Given the description of an element on the screen output the (x, y) to click on. 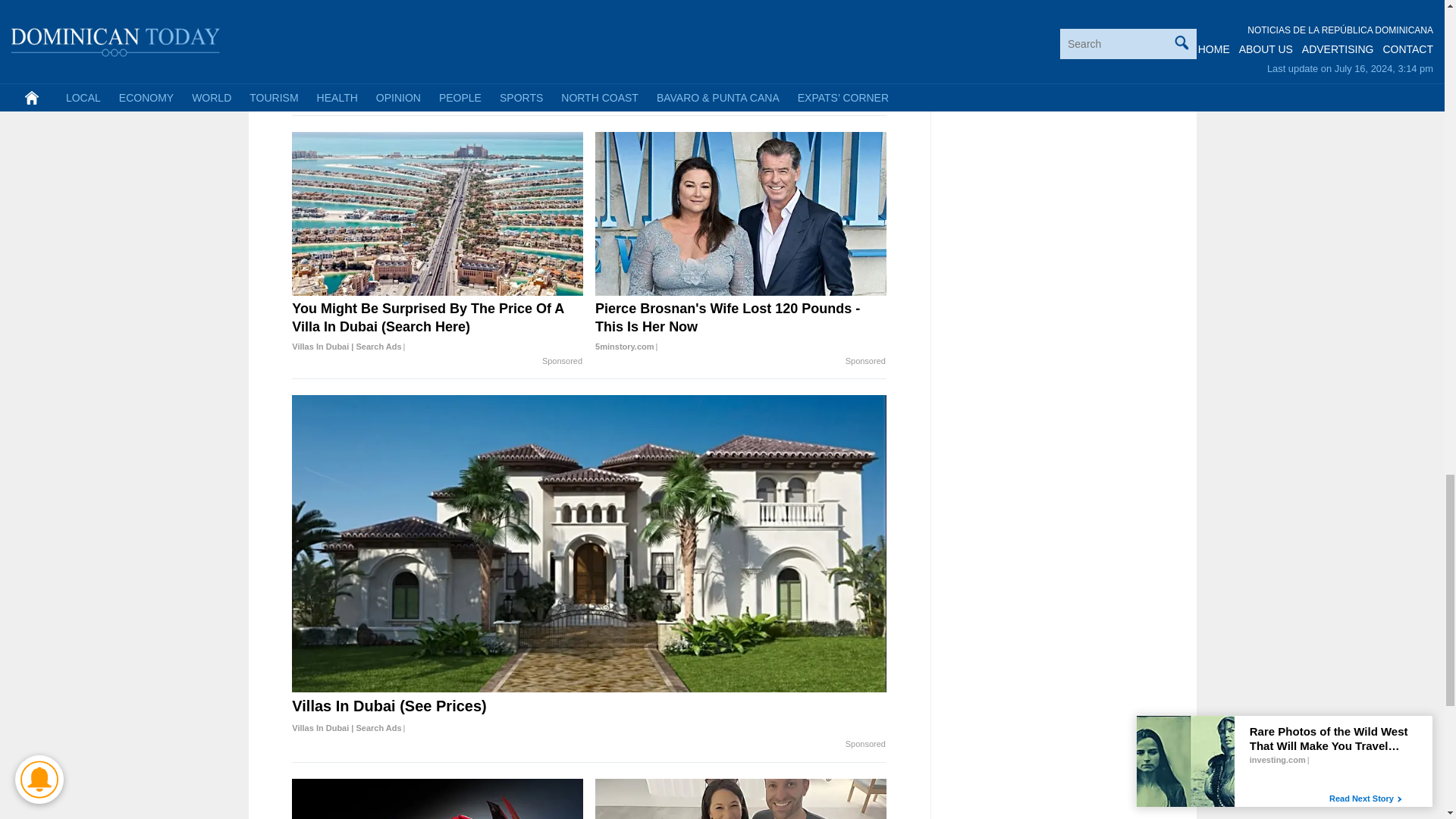
Pierce Brosnan's Wife Lost 120 Pounds - This Is Her Now (740, 327)
